Given the description of an element on the screen output the (x, y) to click on. 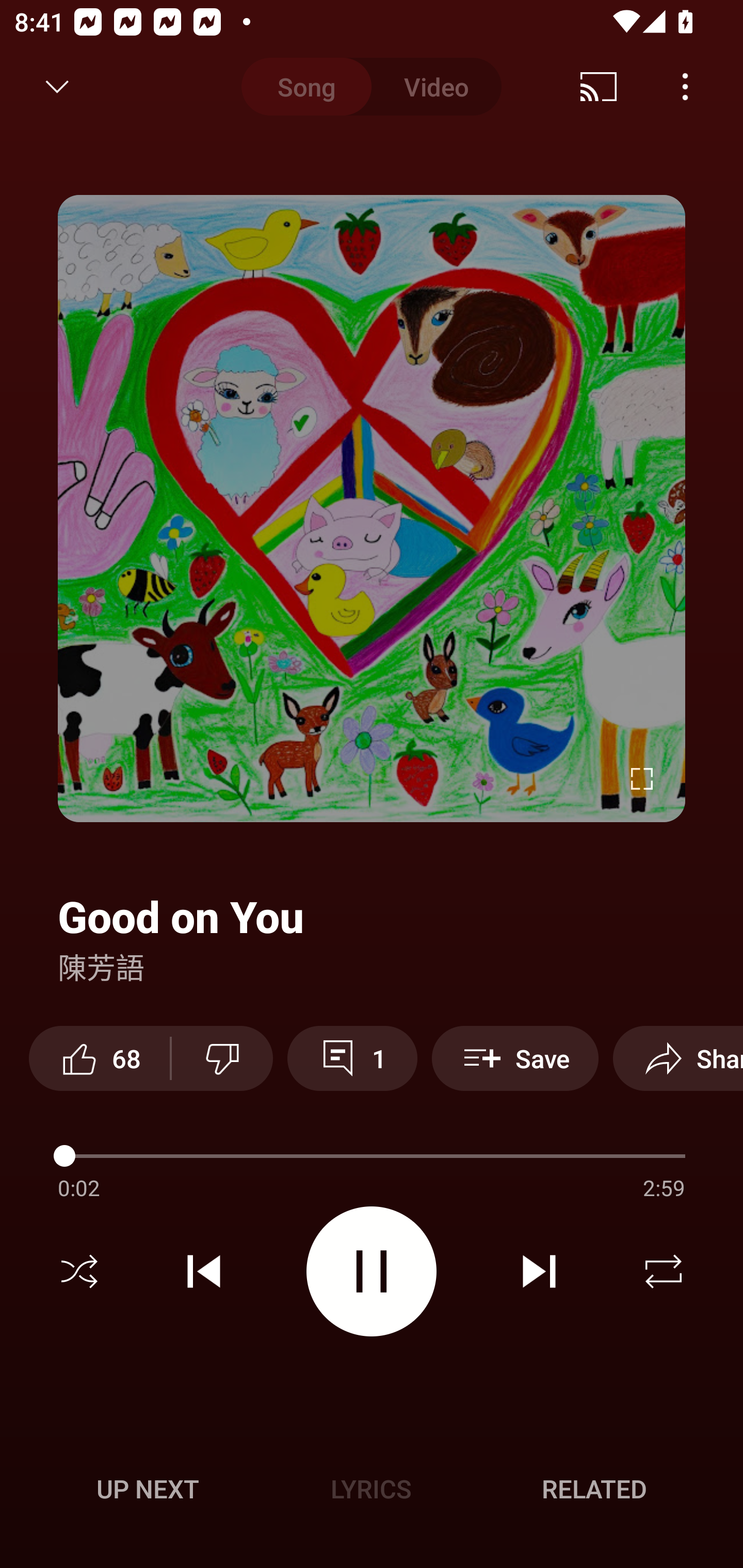
Minimize (57, 86)
Cast. Disconnected (598, 86)
Menu (684, 86)
68 like this video along with 68 other people (98, 1058)
Dislike (221, 1058)
1 View 1 comment (352, 1058)
Save Save to playlist (514, 1058)
Share (677, 1058)
Pause video (371, 1270)
Shuffle off (79, 1270)
Previous track (203, 1270)
Next track (538, 1270)
Repeat off (663, 1270)
Up next UP NEXT Lyrics LYRICS Related RELATED (371, 1491)
Lyrics LYRICS (370, 1488)
Related RELATED (594, 1488)
